Given the description of an element on the screen output the (x, y) to click on. 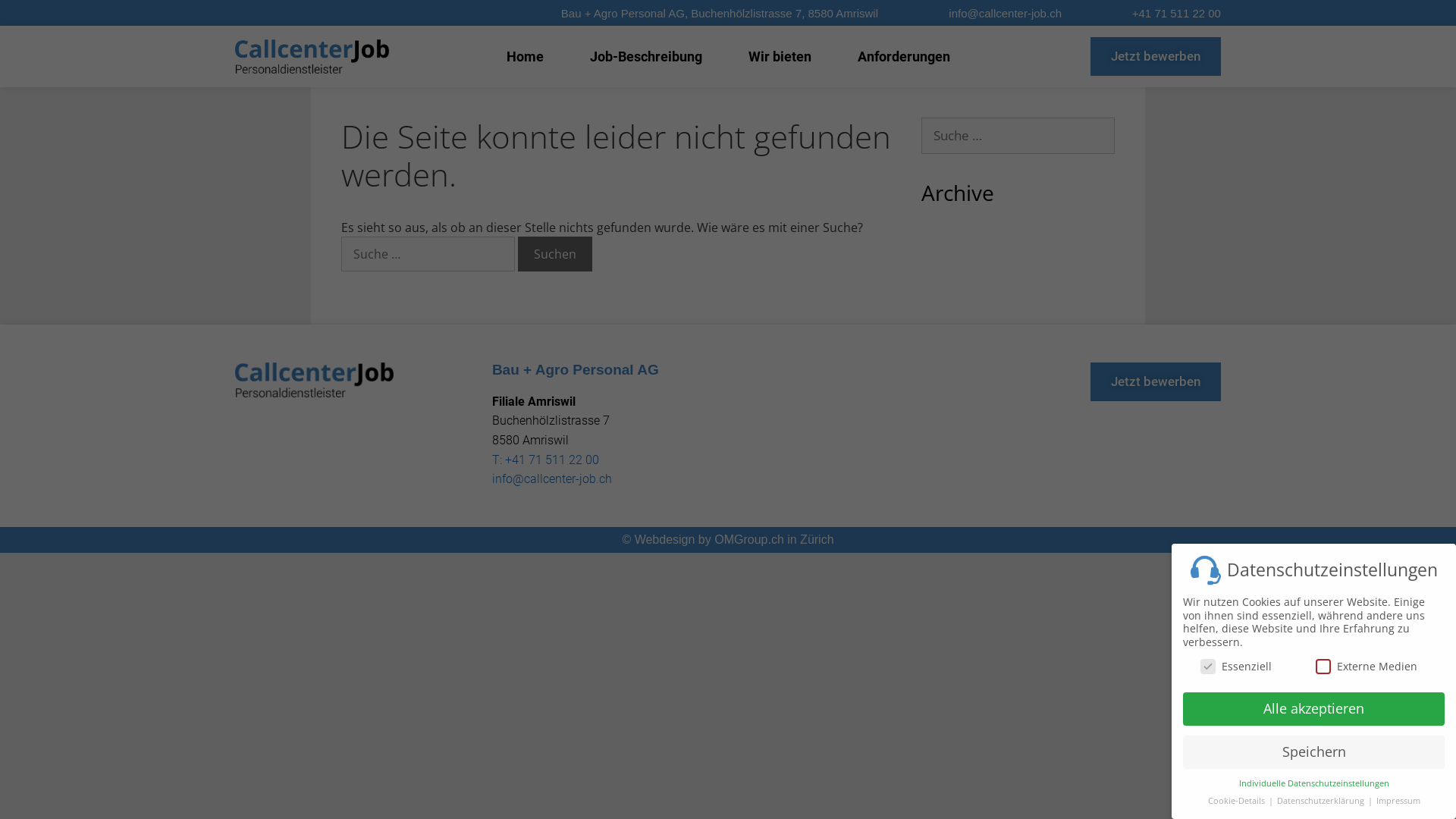
Jetzt bewerben Element type: text (1155, 56)
Individuelle Datenschutzeinstellungen Element type: text (1314, 783)
callcenter_logo.png Element type: hover (314, 379)
Suchen Element type: text (554, 253)
Suche nach: Element type: hover (427, 253)
Home Element type: text (524, 56)
info@callcenter-job.ch Element type: text (551, 478)
Wir bieten Element type: text (778, 56)
Speichern Element type: text (1313, 751)
Suche nach: Element type: hover (1017, 135)
Cookie-Details Element type: text (1236, 800)
Suchen Element type: text (37, 18)
Alle akzeptieren Element type: text (1313, 708)
T: +41 71 511 22 00 Element type: text (545, 459)
Jetzt bewerben Element type: text (1155, 381)
Anforderungen Element type: text (902, 56)
info@callcenter-job.ch Element type: text (1004, 12)
Impressum Element type: text (1397, 800)
+41 71 511 22 00 Element type: text (1176, 12)
Job-Beschreibung Element type: text (645, 56)
